Given the description of an element on the screen output the (x, y) to click on. 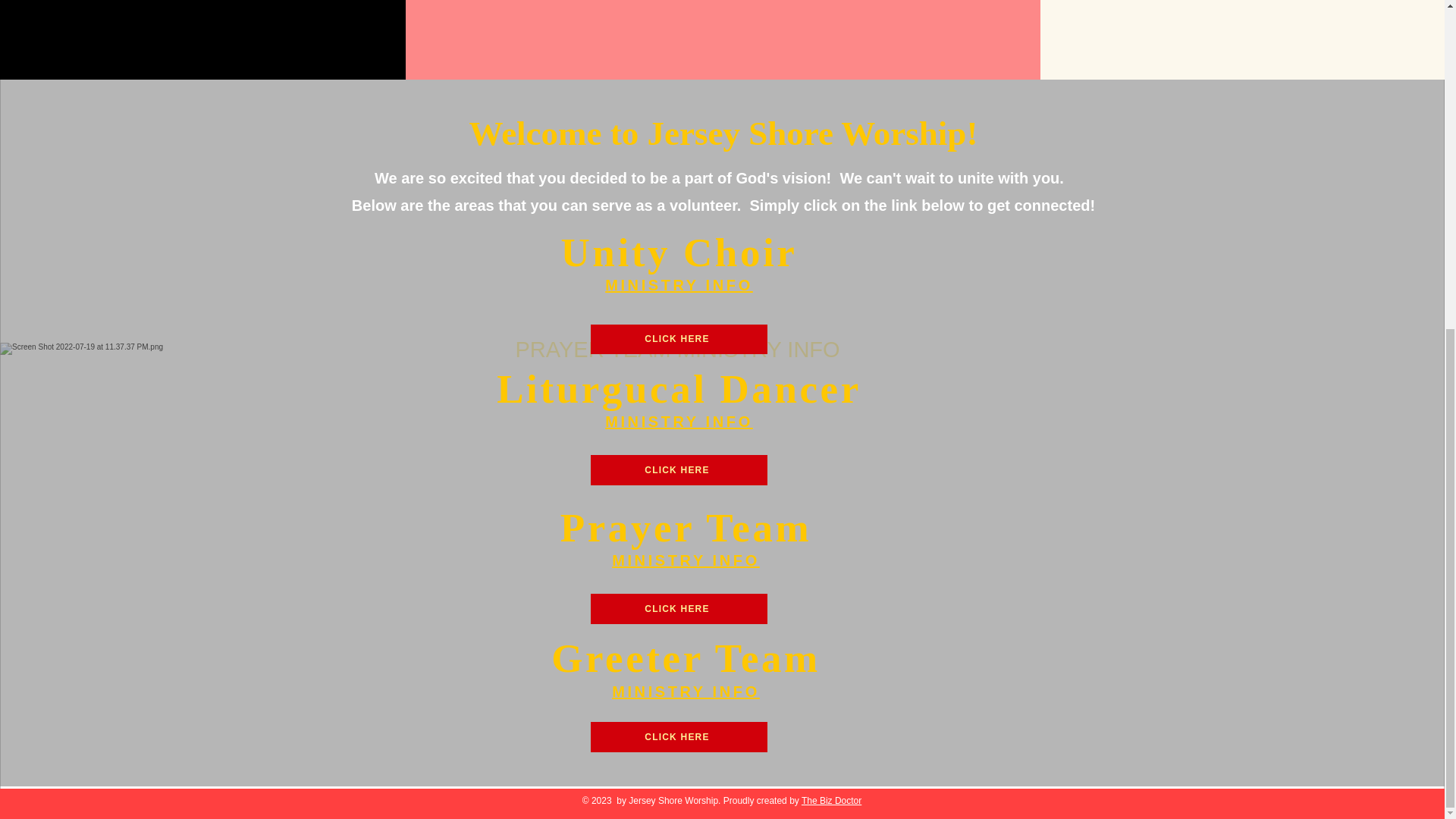
CLICK HERE (678, 608)
CLICK HERE (678, 736)
CLICK HERE (678, 338)
CLICK HERE (678, 470)
The Biz Doctor (831, 800)
